Given the description of an element on the screen output the (x, y) to click on. 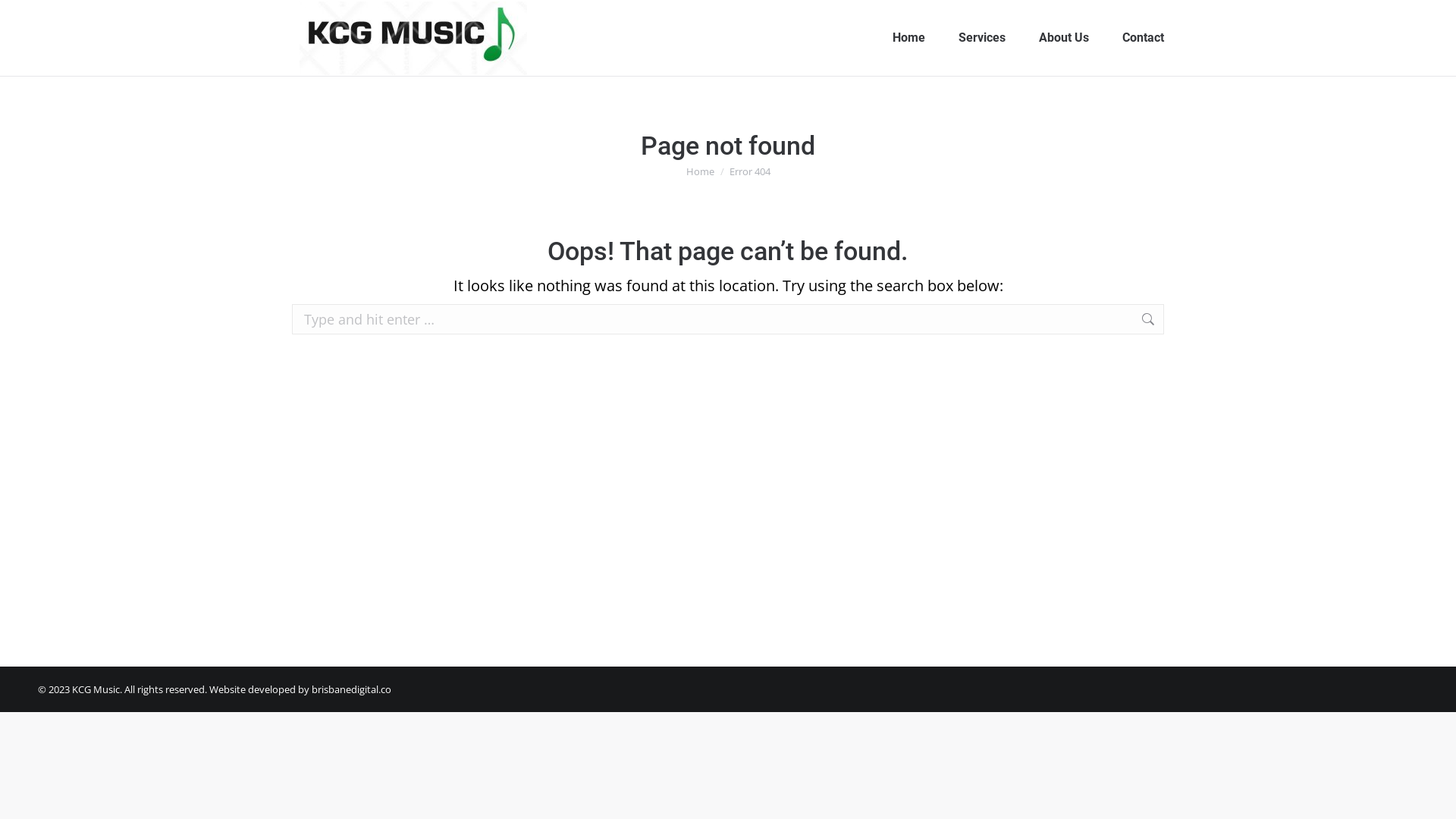
Home Element type: text (908, 37)
Go! Element type: text (1187, 320)
brisbanedigital.co Element type: text (351, 689)
Contact Element type: text (1143, 37)
Home Element type: text (699, 171)
Services Element type: text (981, 37)
About Us Element type: text (1063, 37)
